Given the description of an element on the screen output the (x, y) to click on. 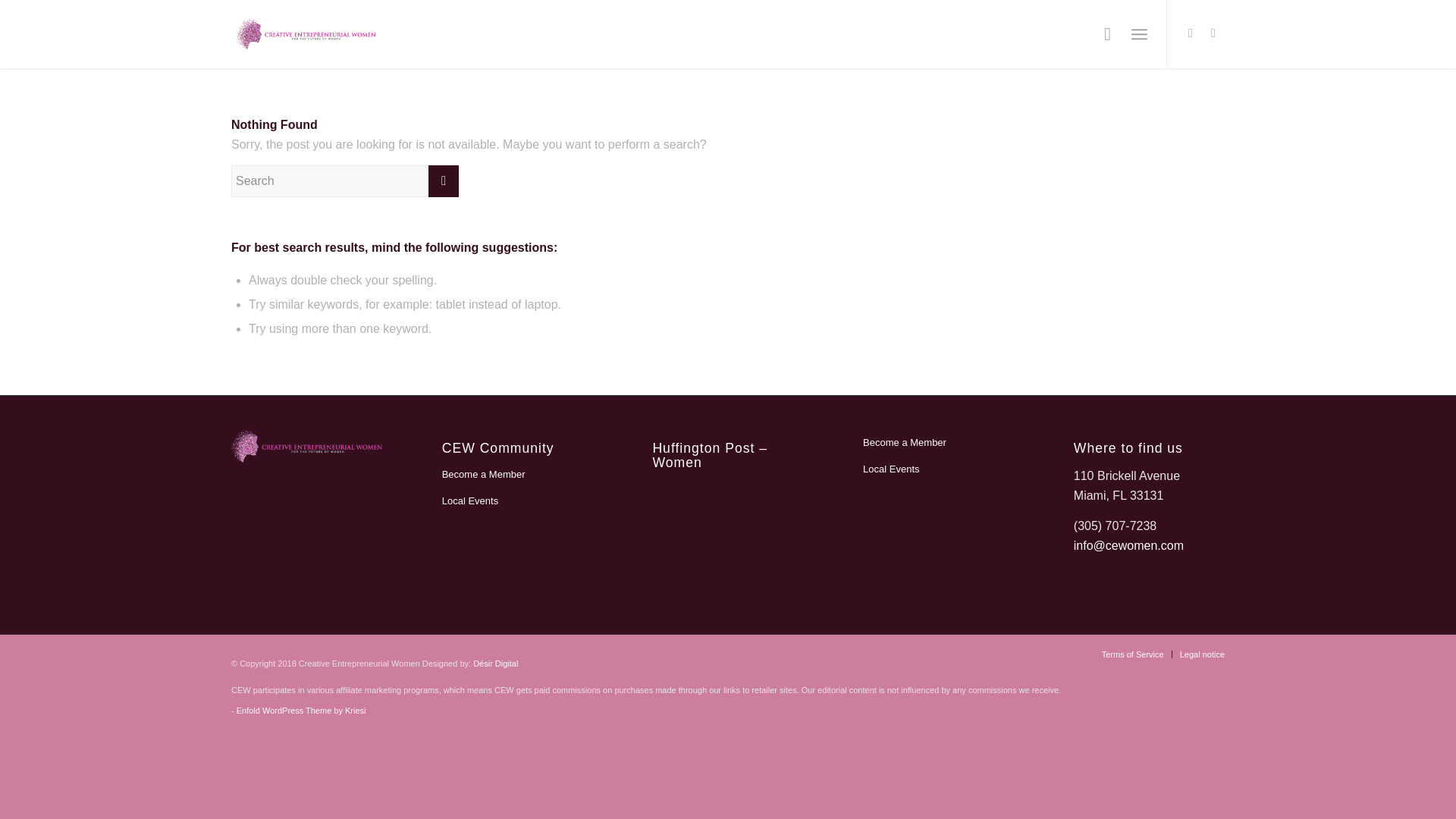
Twitter (1190, 33)
Enfold WordPress Theme by Kriesi (300, 709)
Facebook (1213, 33)
Become a Member (938, 442)
Terms of Service (1132, 654)
Local Events (938, 469)
Become a Member (517, 474)
Local Events (517, 501)
Legal notice (1201, 654)
